Given the description of an element on the screen output the (x, y) to click on. 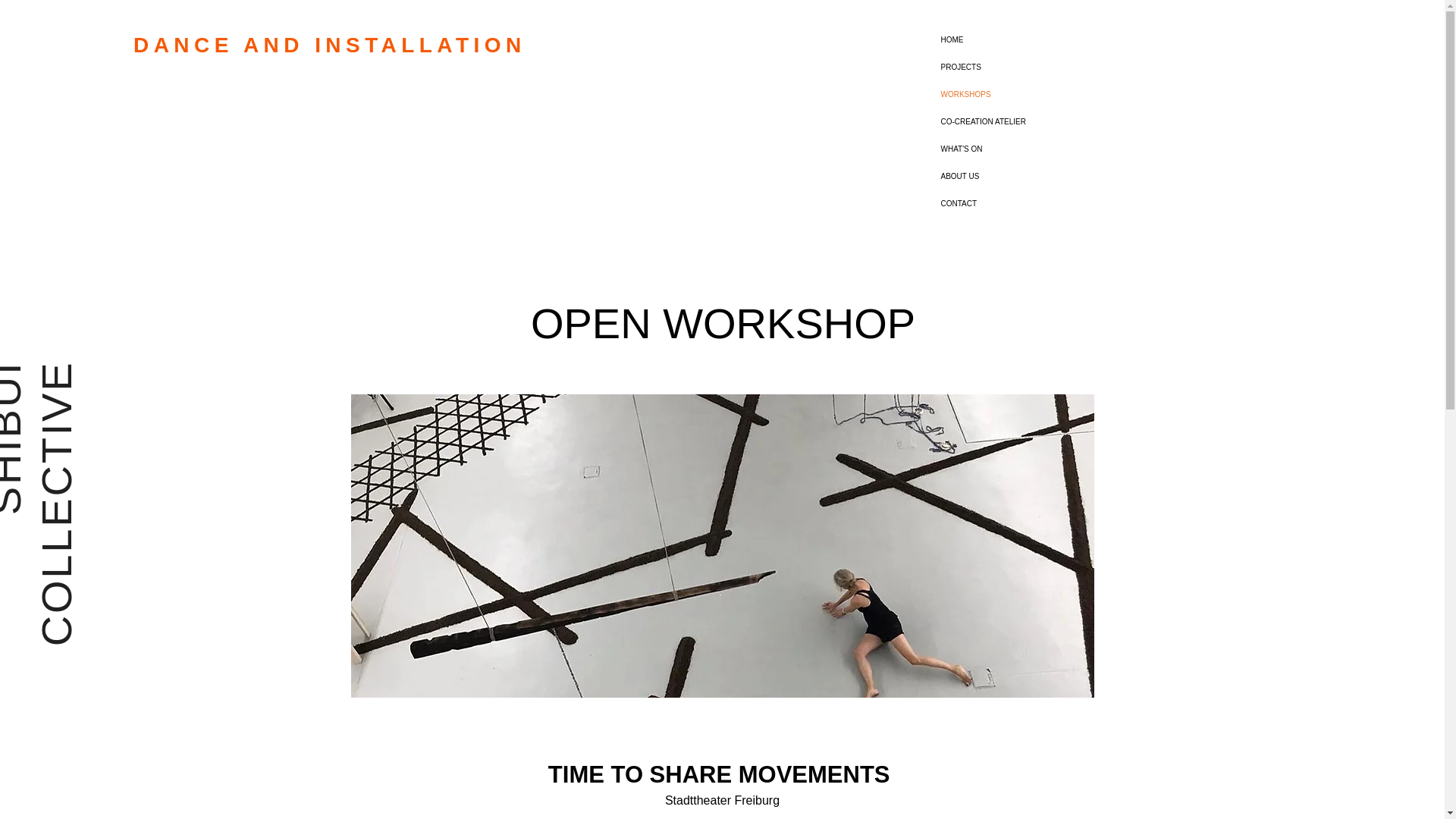
ABOUT US (1013, 176)
CONTACT (1013, 203)
DANCE AND INSTALLATION    (345, 44)
WHAT'S ON (1013, 148)
SHIBUI COLLECTIVE (133, 409)
WORKSHOPS (1013, 94)
PROJECTS (1013, 67)
CO-CREATION ATELIER (1013, 121)
HOME (1013, 40)
